Given the description of an element on the screen output the (x, y) to click on. 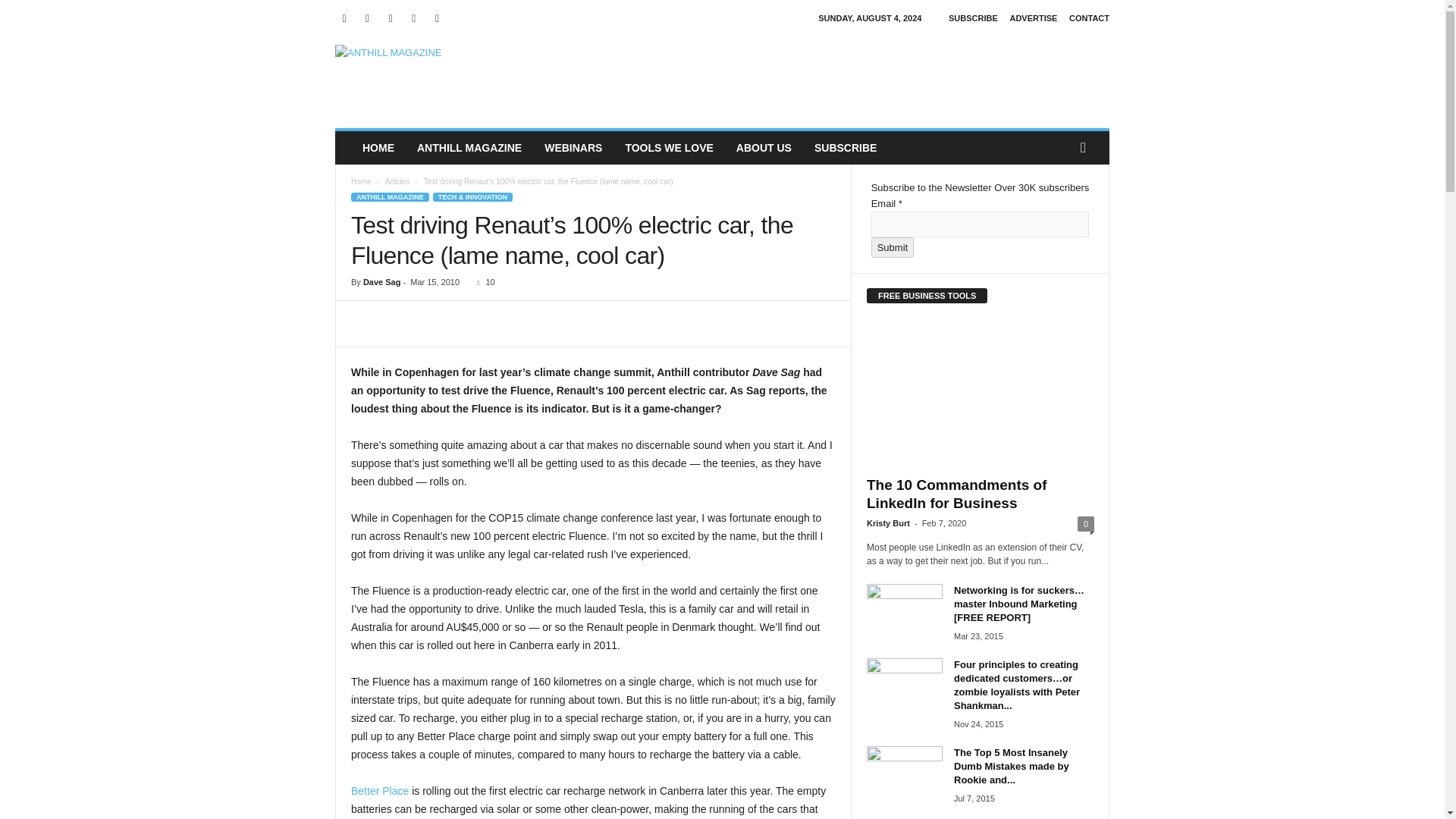
View all posts in Articles (397, 181)
CONTACT (1088, 17)
ADVERTISE (1033, 17)
SUBSCRIBE (973, 17)
